Given the description of an element on the screen output the (x, y) to click on. 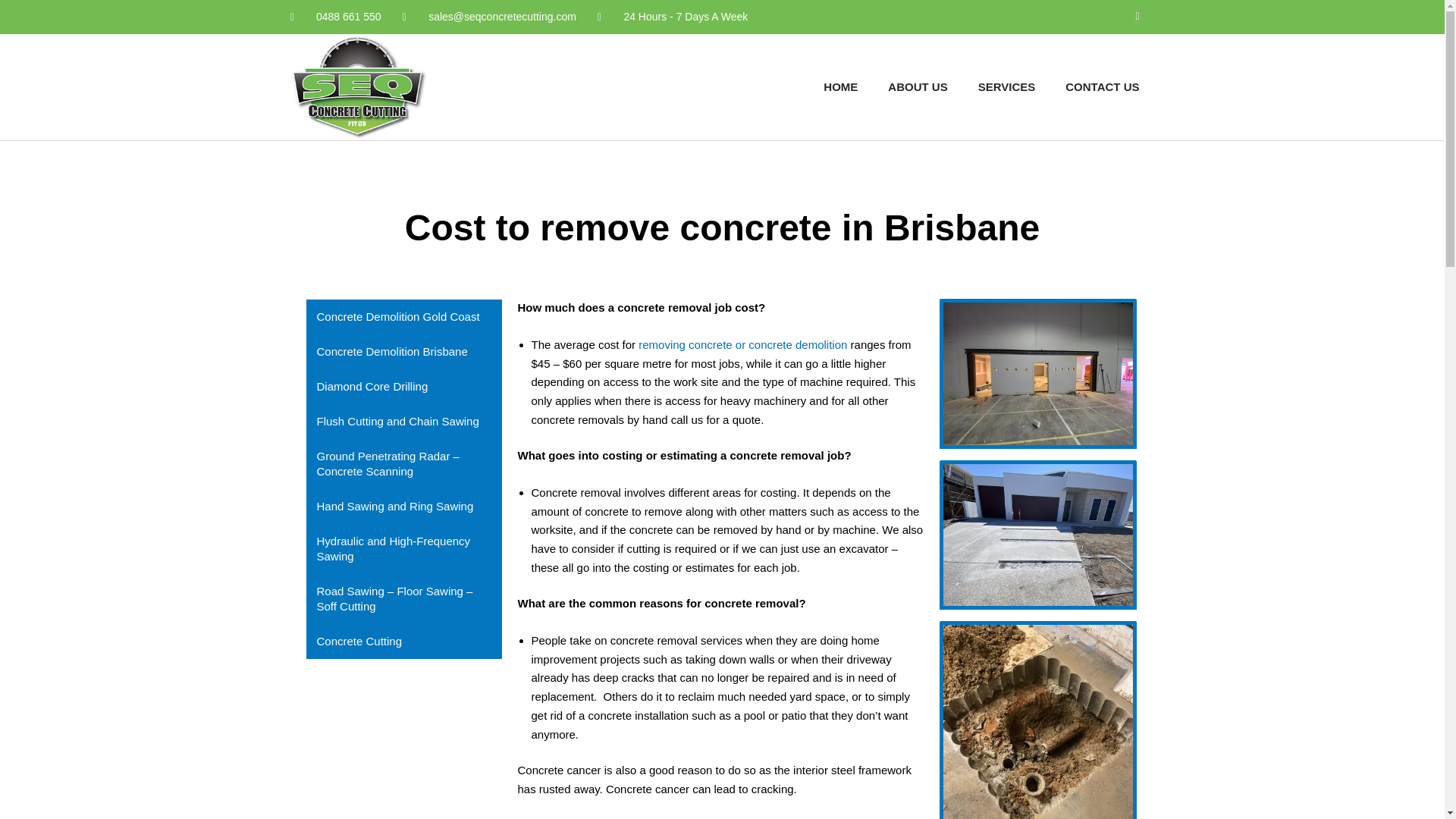
Diamond Core Drilling (403, 386)
Cost to remove concrete in Brisbane and the Gold Coast (1038, 719)
CONTACT US (1101, 87)
Facebook (1137, 17)
Flush Cutting and Chain Sawing (403, 421)
Concrete Demolition Brisbane (403, 351)
0488 661 550 (334, 16)
Cost to remove concrete in Brisbane and the Gold Coast (1038, 535)
Concrete Demolition Gold Coast (403, 316)
Cost to remove concrete in Brisbane and the Gold Coast (1038, 373)
